Given the description of an element on the screen output the (x, y) to click on. 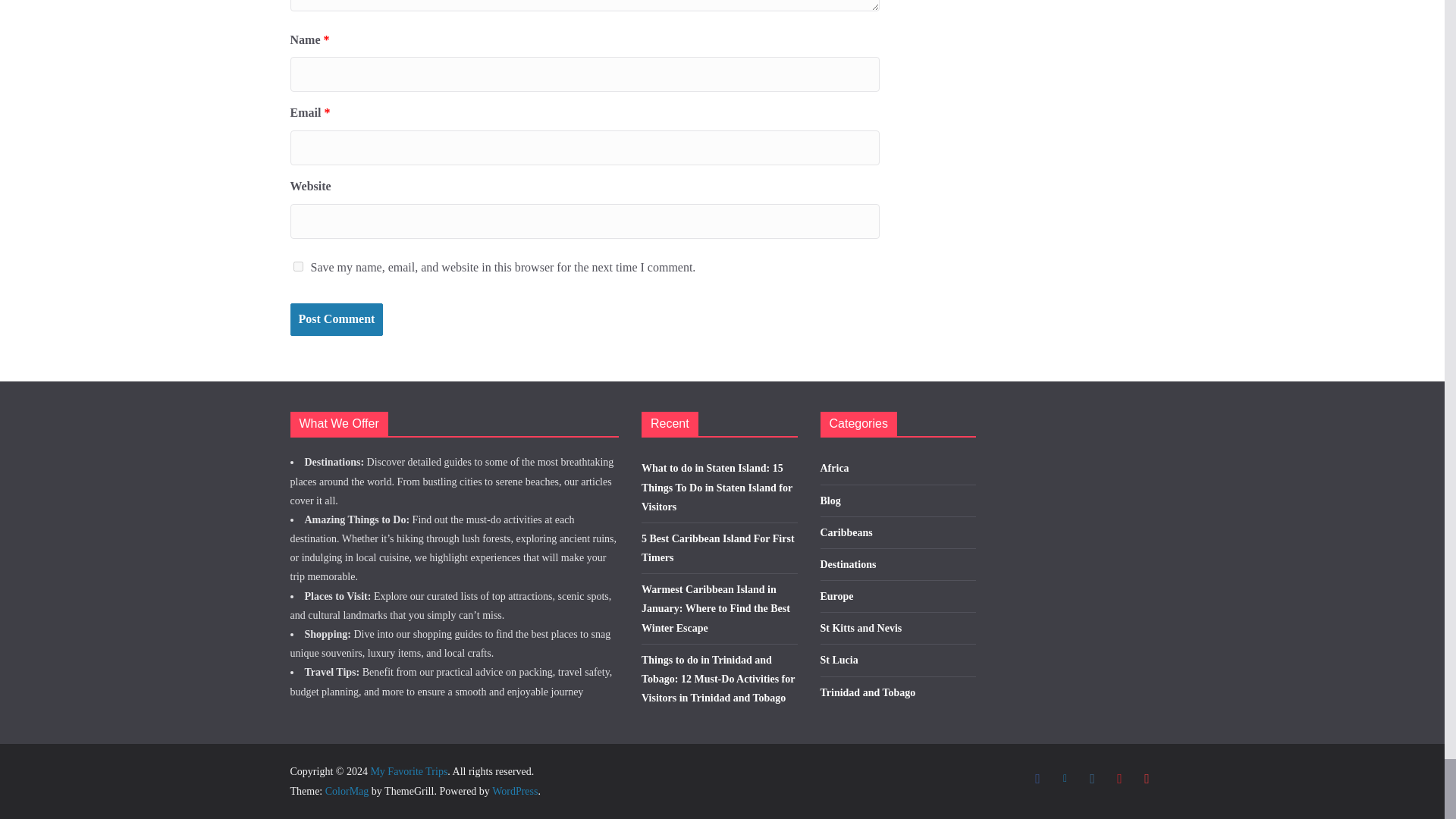
Post Comment (335, 319)
Post Comment (335, 319)
yes (297, 266)
